Given the description of an element on the screen output the (x, y) to click on. 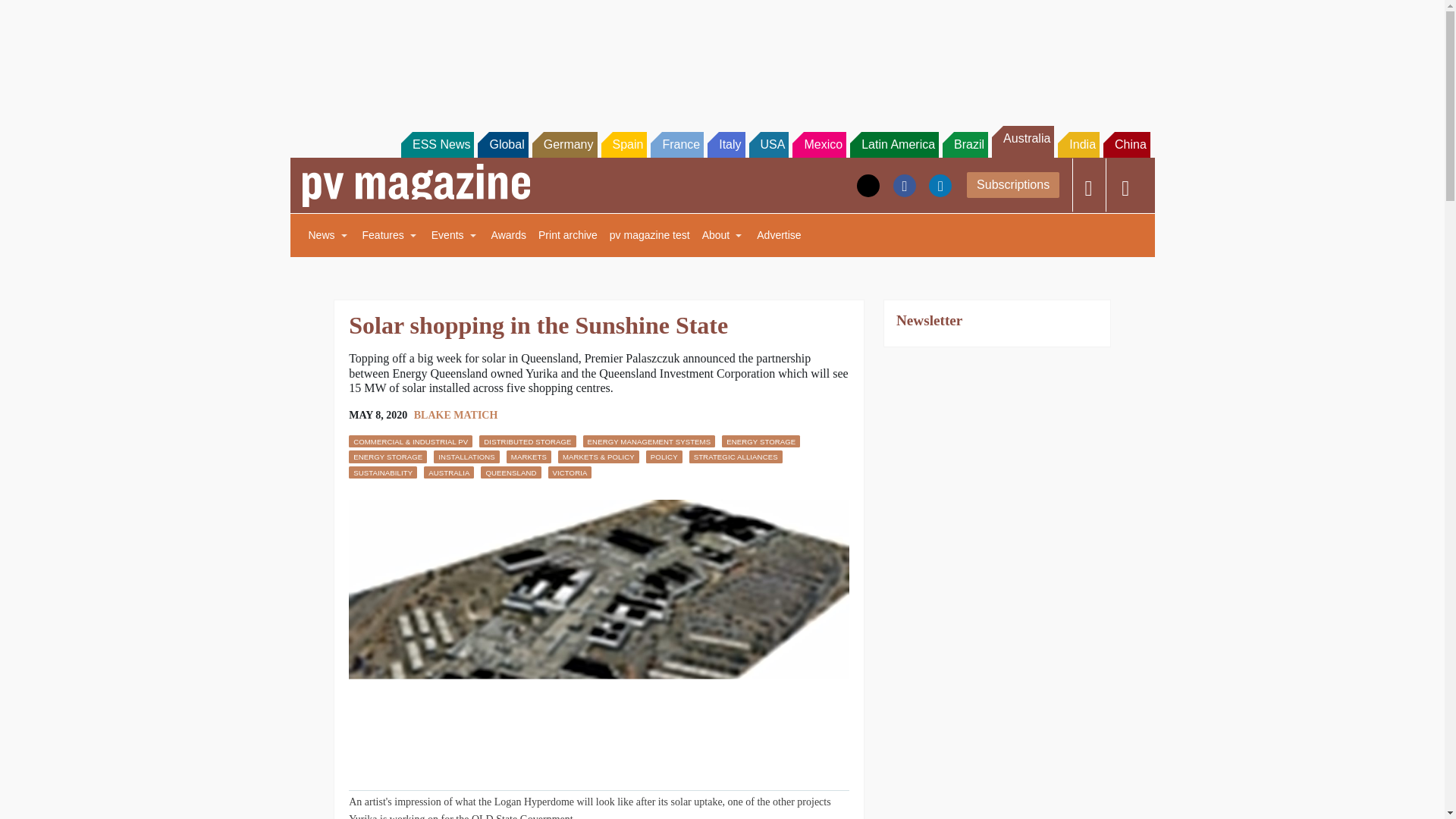
India (1078, 144)
Spain (622, 144)
Italy (725, 144)
Friday, May 8, 2020, 6:30 am (378, 415)
USA (769, 144)
pv magazine - Photovoltaics Markets and Technology (415, 185)
Germany (564, 144)
Search (32, 15)
ESS News (437, 144)
Posts by Blake Matich (455, 414)
